Given the description of an element on the screen output the (x, y) to click on. 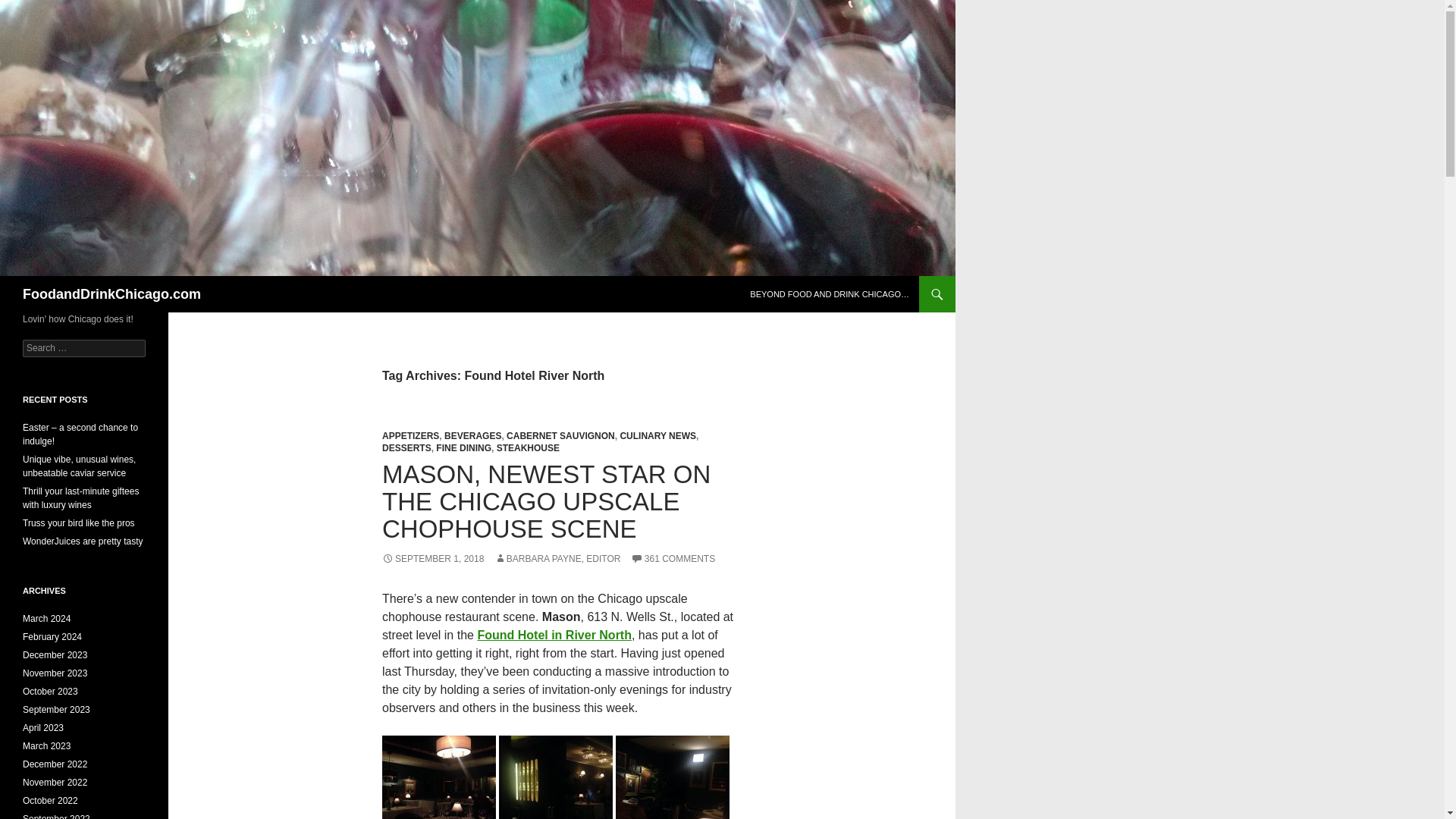
FINE DINING (463, 448)
CABERNET SAUVIGNON (560, 435)
SEPTEMBER 1, 2018 (432, 558)
BEVERAGES (472, 435)
CULINARY NEWS (657, 435)
FoodandDrinkChicago.com (111, 294)
DESSERTS (405, 448)
MASON, NEWEST STAR ON THE CHICAGO UPSCALE CHOPHOUSE SCENE (545, 501)
BARBARA PAYNE, EDITOR (558, 558)
APPETIZERS (410, 435)
WonderJuices are pretty tasty (82, 541)
Found Hotel in River North (554, 634)
361 COMMENTS (672, 558)
